Given the description of an element on the screen output the (x, y) to click on. 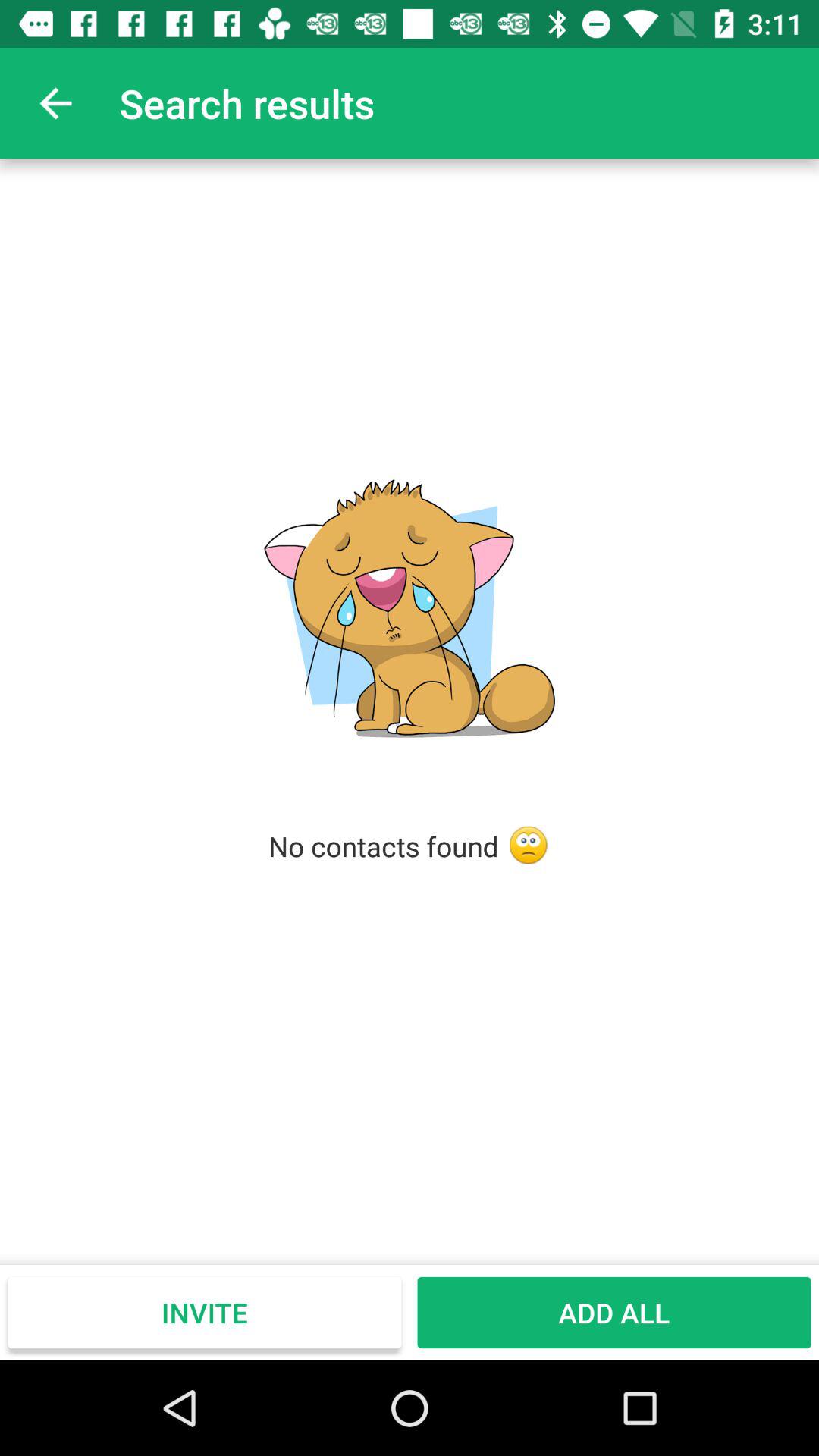
click item at the bottom right corner (614, 1312)
